Given the description of an element on the screen output the (x, y) to click on. 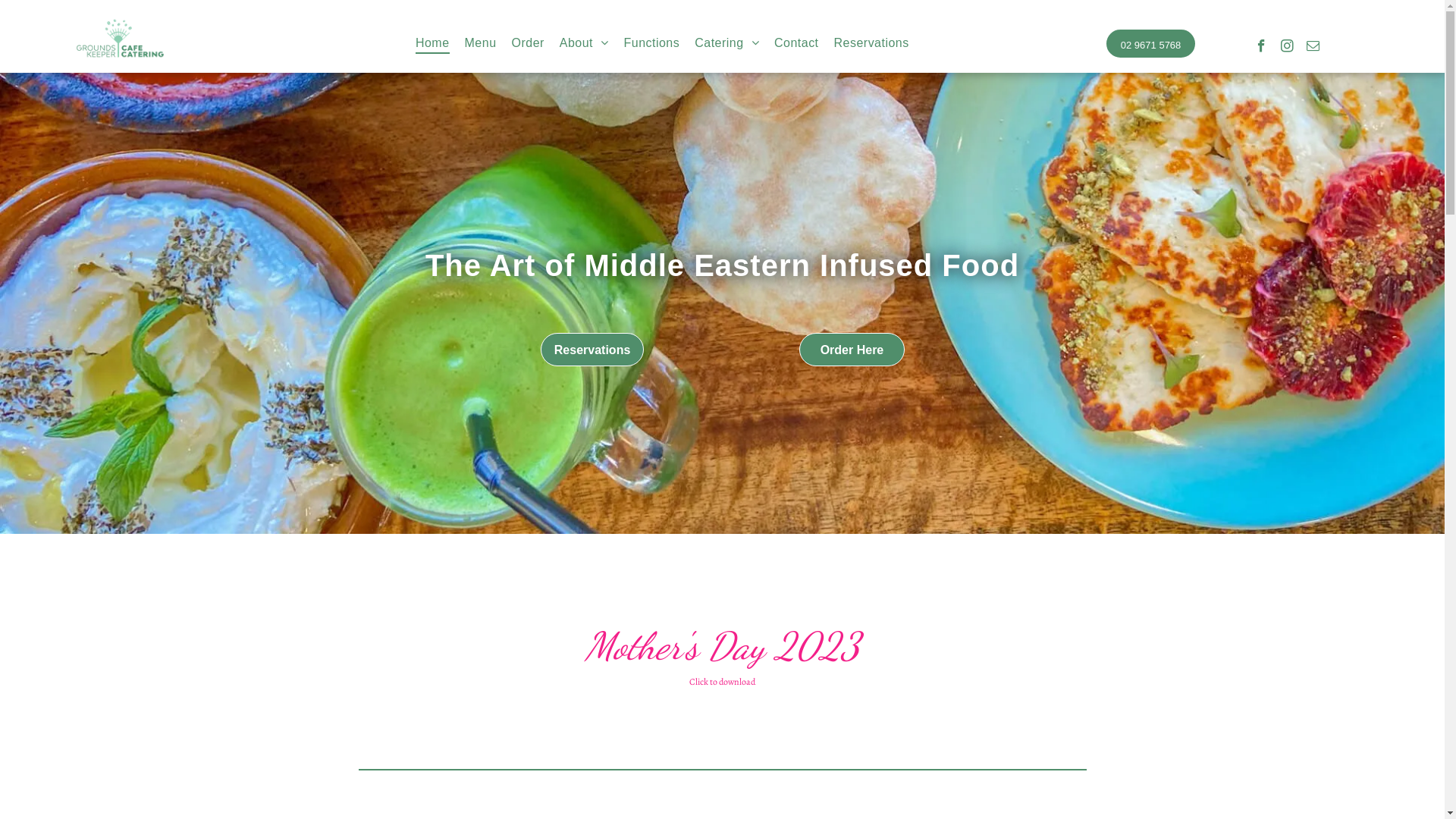
Functions Element type: text (651, 42)
Menu Element type: text (480, 42)
Home Element type: text (432, 42)
Catering Element type: text (726, 42)
Reservations Element type: text (871, 42)
Order Element type: text (528, 42)
Contact Element type: text (796, 42)
Reservations Element type: text (591, 349)
Mother's Day 2023 Element type: text (722, 645)
About Element type: text (584, 42)
Order Here Element type: text (851, 349)
02 9671 5768 Element type: text (1150, 43)
